Given the description of an element on the screen output the (x, y) to click on. 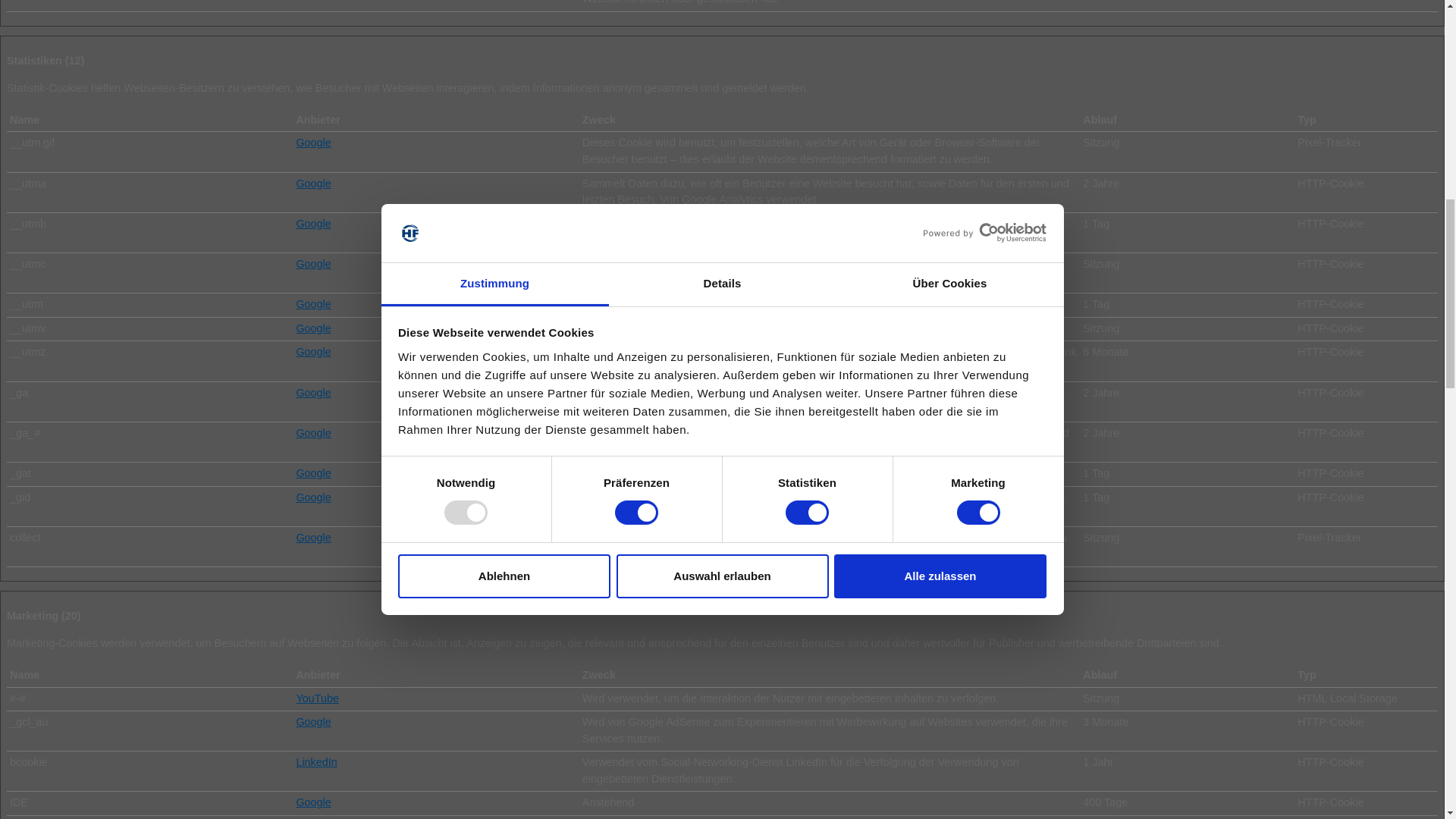
Google (312, 432)
die Datenschutzrichtlinie von Google (312, 392)
Google (312, 472)
die Datenschutzrichtlinie von Google (312, 497)
Google (312, 537)
Google (312, 351)
Google (312, 721)
die Datenschutzrichtlinie von Google (312, 721)
die Datenschutzrichtlinie von Google (312, 263)
Google (312, 223)
die Datenschutzrichtlinie von Google (312, 537)
die Datenschutzrichtlinie von Google (312, 304)
YouTube (317, 698)
Google (312, 497)
die Datenschutzrichtlinie von Google (312, 223)
